Given the description of an element on the screen output the (x, y) to click on. 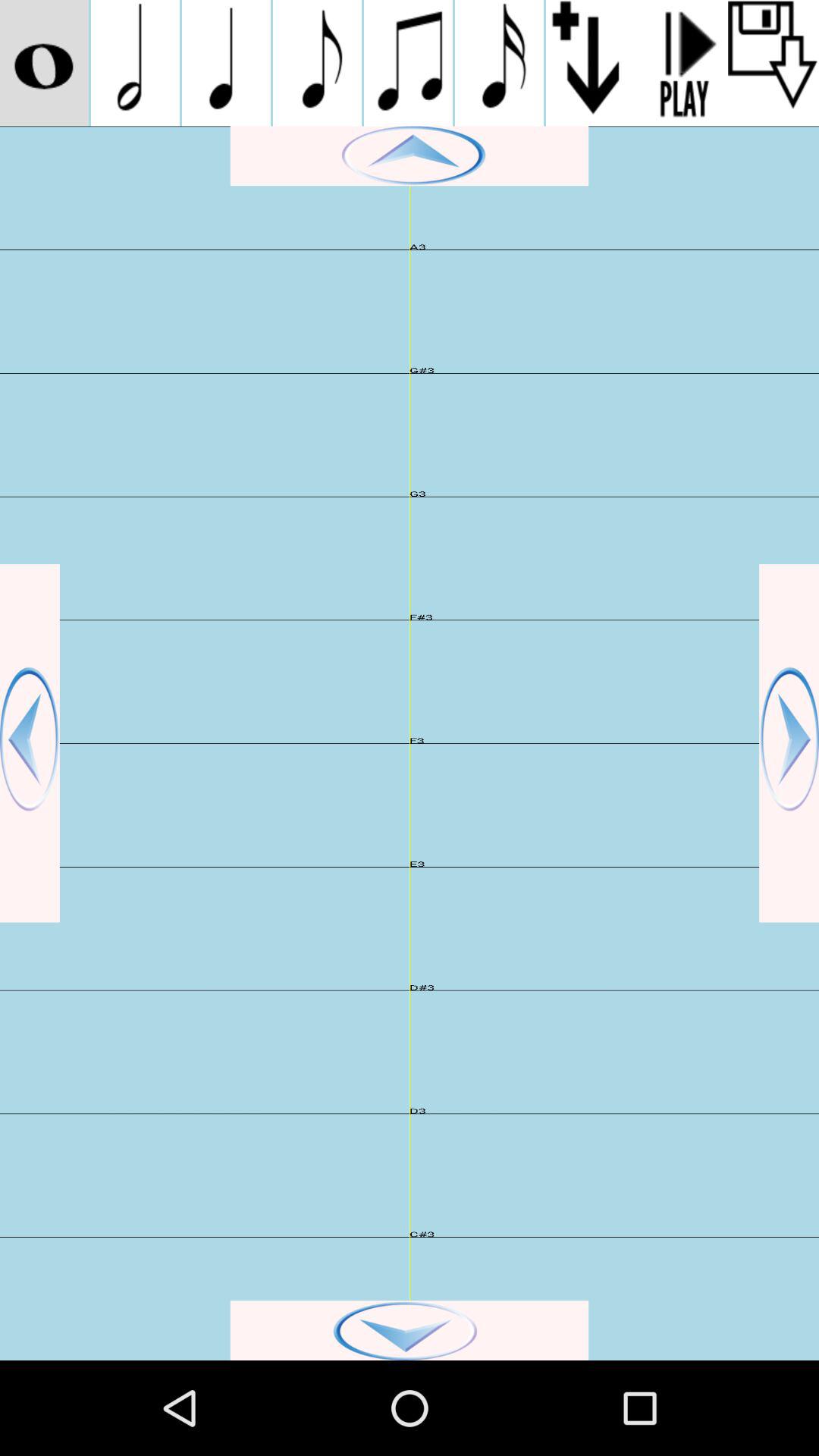
select minim (135, 63)
